Given the description of an element on the screen output the (x, y) to click on. 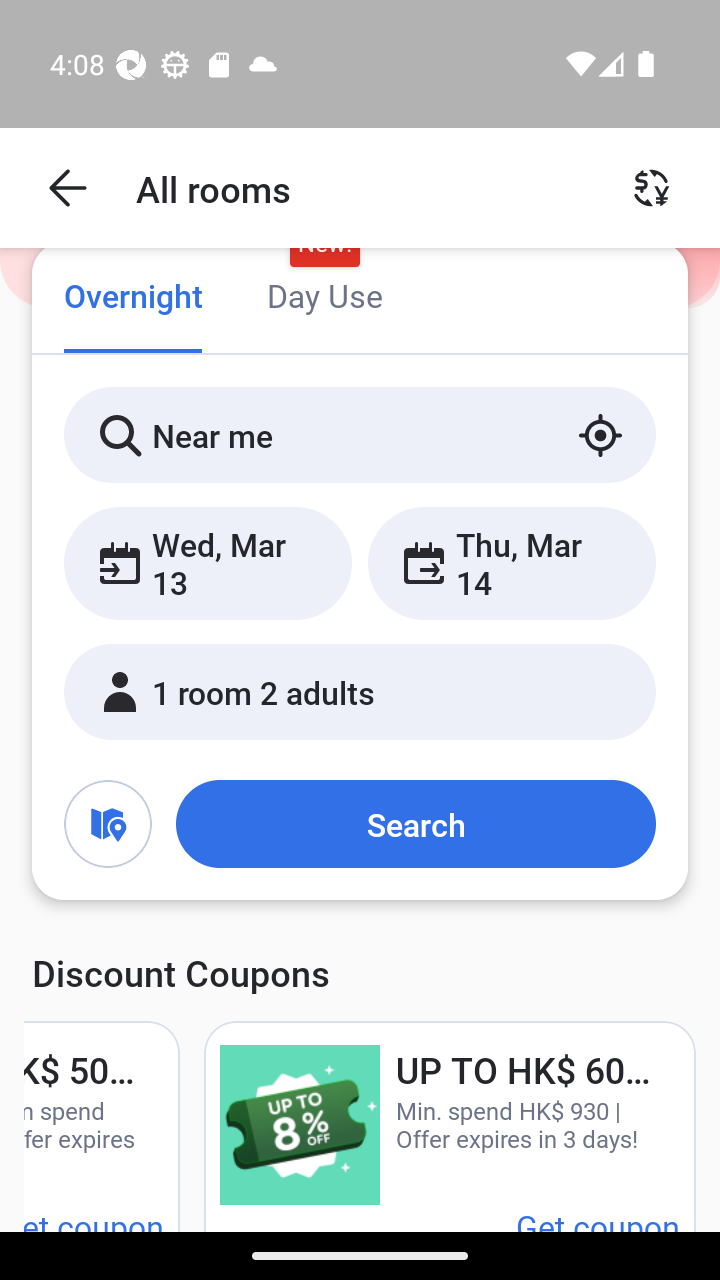
Day Use (324, 298)
Near me (359, 434)
Wed, Mar 13 (208, 562)
Thu, Mar 14 (511, 562)
1 room 2 adults (359, 691)
Search (415, 823)
